Given the description of an element on the screen output the (x, y) to click on. 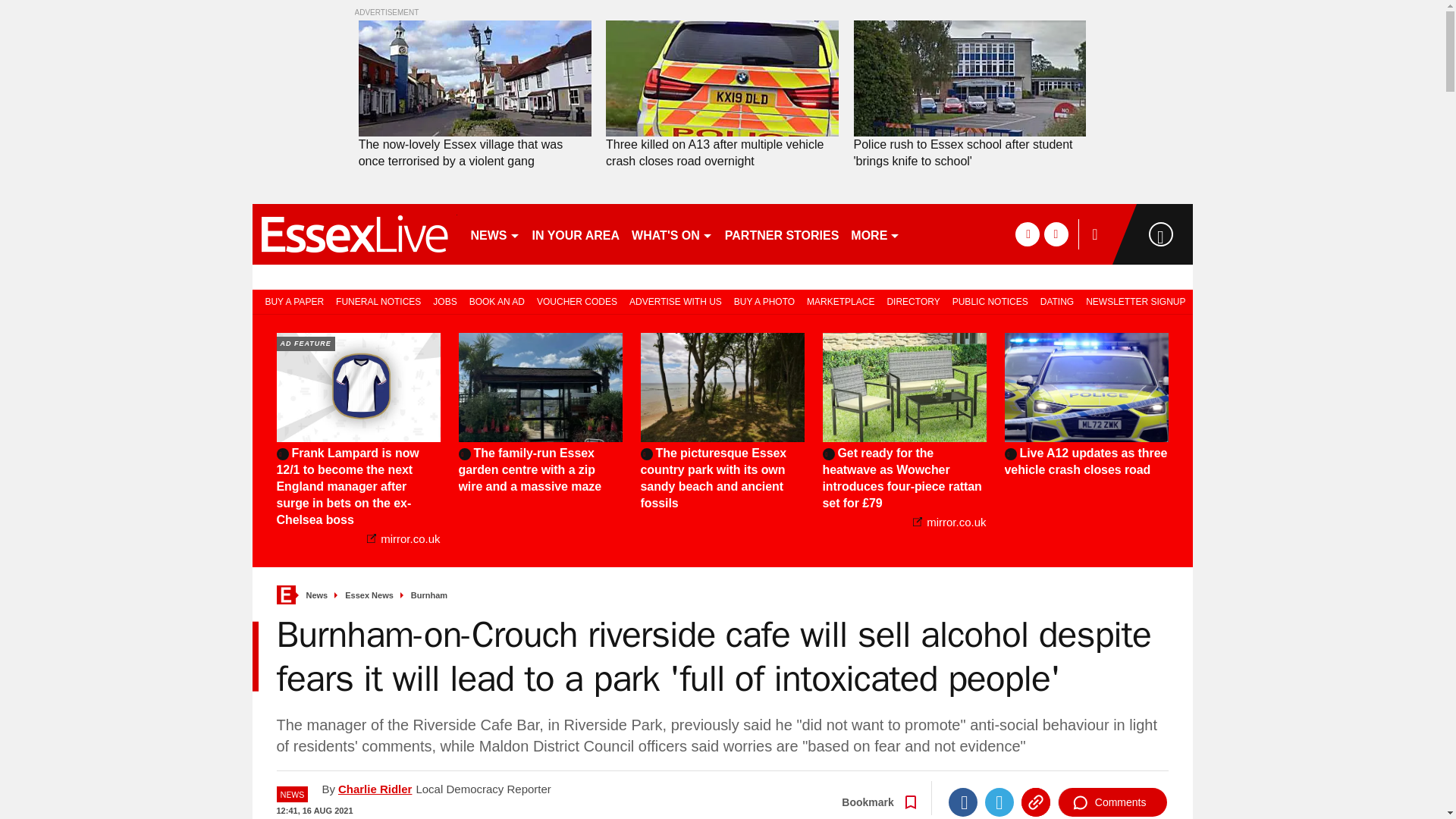
twitter (1055, 233)
essexlive (354, 233)
WHAT'S ON (672, 233)
MORE (874, 233)
IN YOUR AREA (575, 233)
Comments (1112, 801)
NEWS (494, 233)
PARTNER STORIES (782, 233)
Facebook (962, 801)
